Given the description of an element on the screen output the (x, y) to click on. 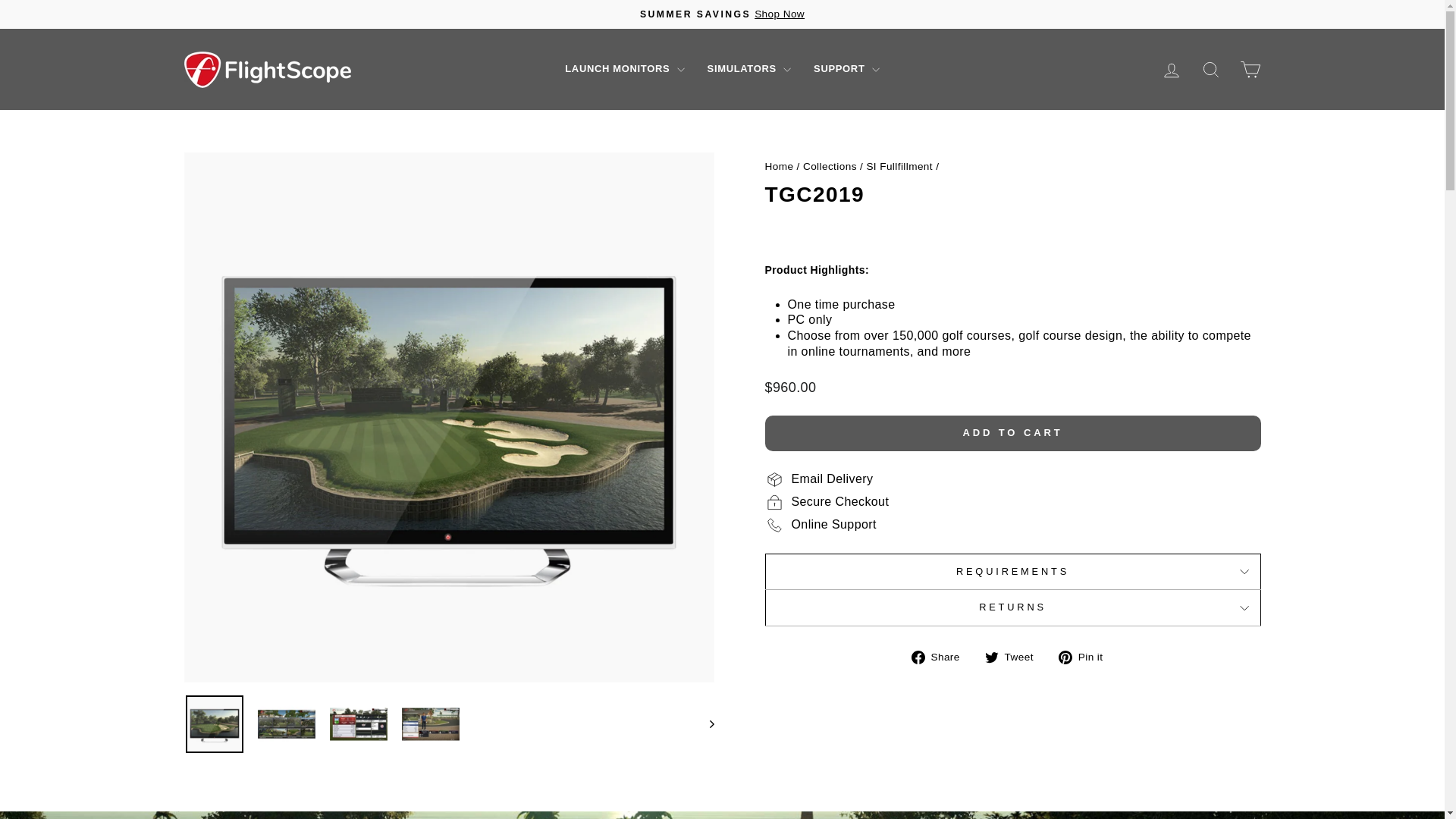
twitter (991, 657)
Share on Facebook (941, 657)
Tweet on Twitter (1015, 657)
Pin on Pinterest (1085, 657)
Back to the frontpage (778, 165)
ICON-SEARCH (1210, 69)
SUMMER SAVINGSShop Now (722, 14)
ACCOUNT (1170, 70)
